Given the description of an element on the screen output the (x, y) to click on. 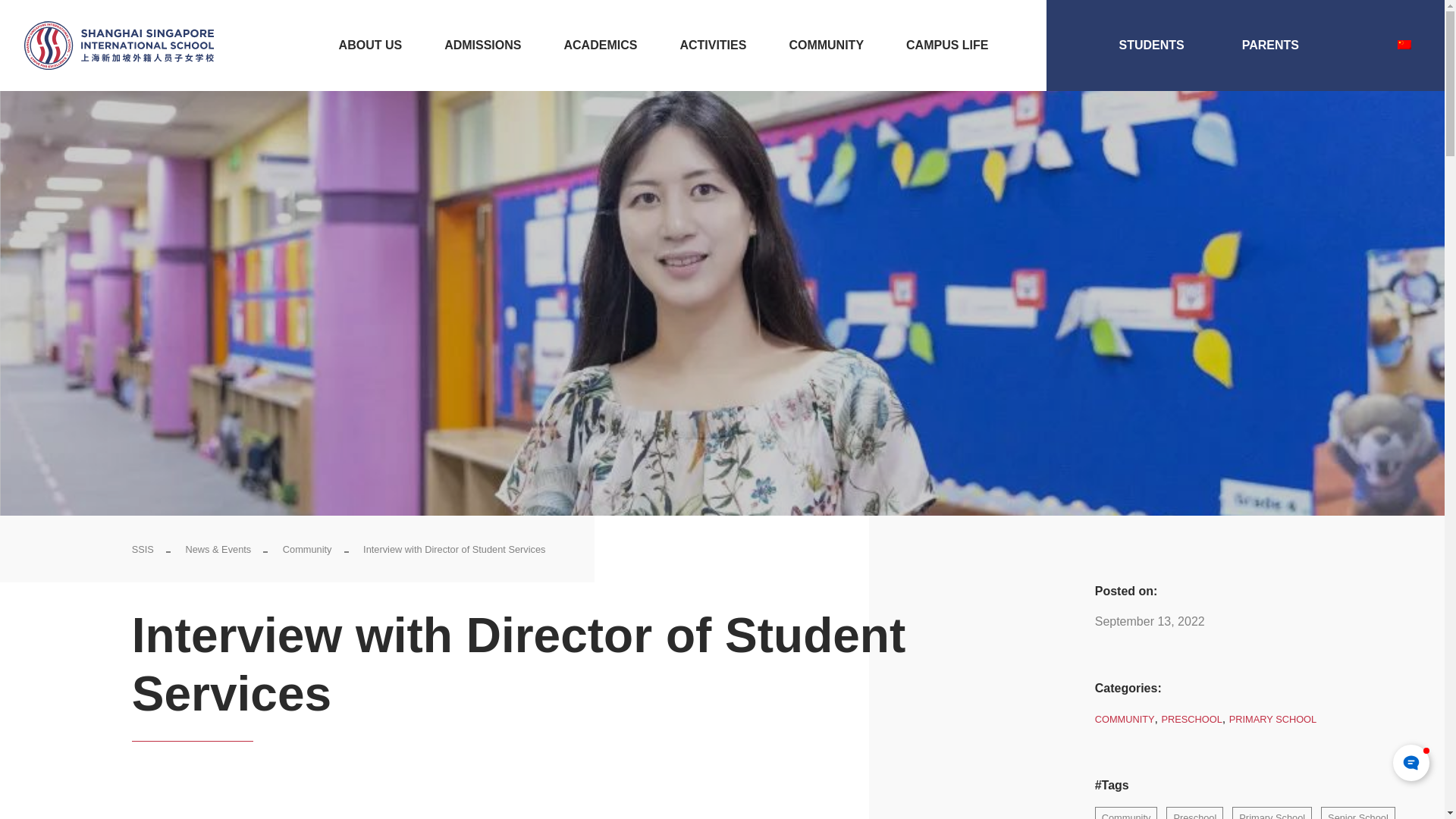
ADMISSIONS (482, 45)
ABOUT US (370, 45)
ADMISSIONS (482, 45)
ACADEMICS (599, 45)
ABOUT US (370, 45)
